Given the description of an element on the screen output the (x, y) to click on. 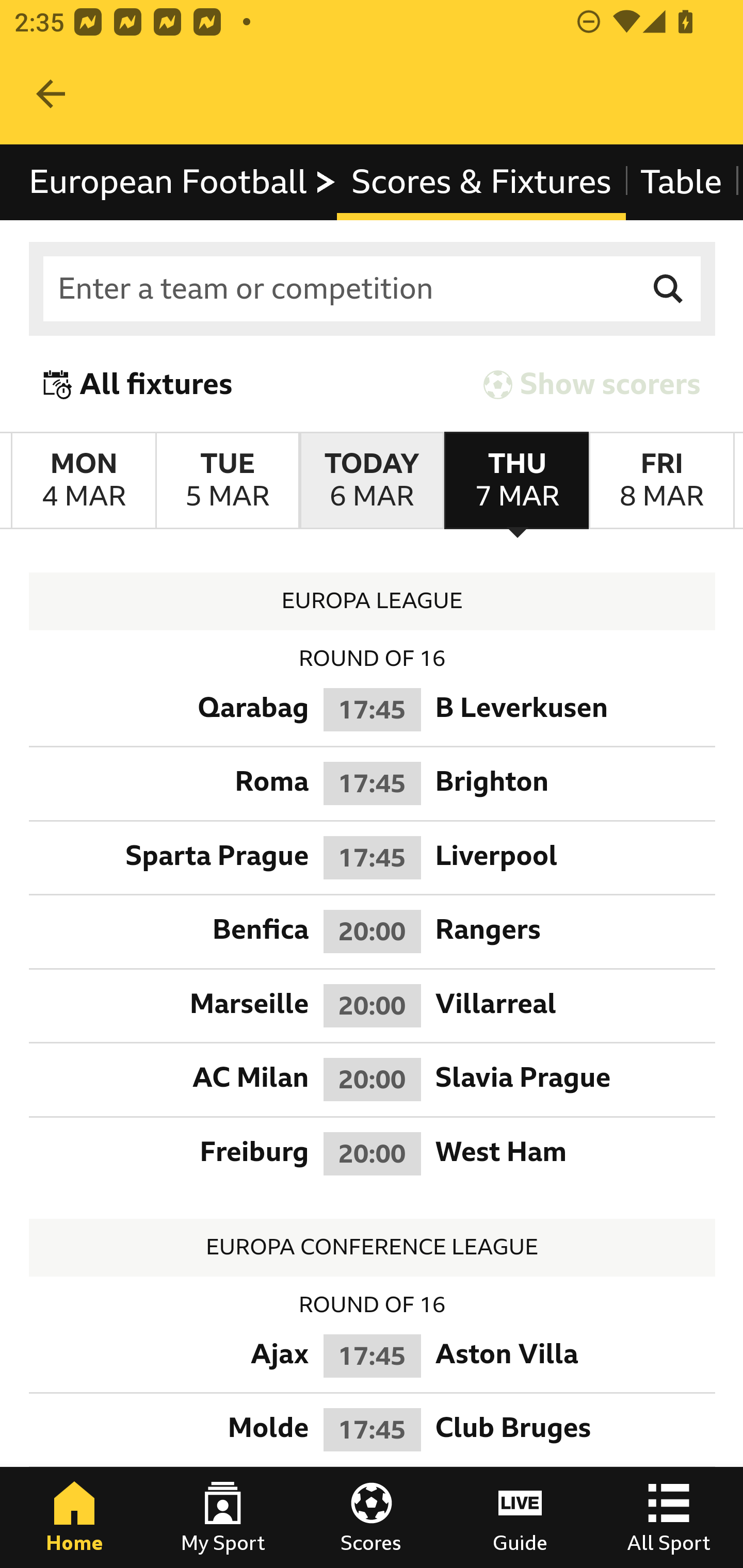
Navigate up (50, 93)
European Football  (182, 181)
Scores & Fixtures (480, 181)
Table (681, 181)
Search (669, 289)
All fixtures (137, 383)
Show scorers (591, 383)
MondayMarch 4th Monday March 4th (83, 480)
TuesdayMarch 5th Tuesday March 5th (227, 480)
TodayMarch 6th Today March 6th (371, 480)
FridayMarch 8th Friday March 8th (661, 480)
My Sport (222, 1517)
Scores (371, 1517)
Guide (519, 1517)
All Sport (668, 1517)
